Given the description of an element on the screen output the (x, y) to click on. 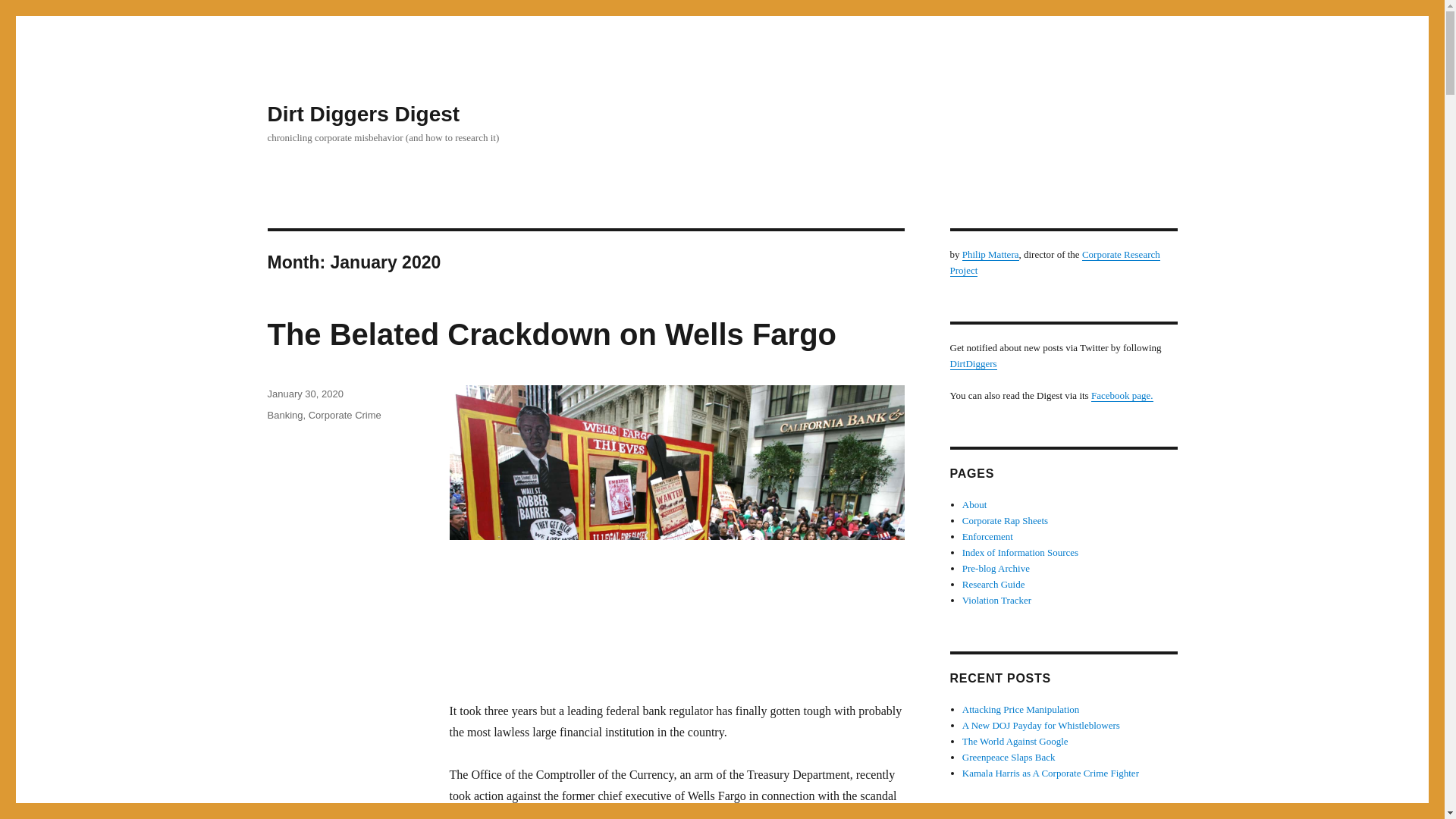
Corporate Crime (344, 414)
January 30, 2020 (304, 393)
Banking (284, 414)
Dirt Diggers Digest (363, 114)
The Belated Crackdown on Wells Fargo (550, 334)
